Given the description of an element on the screen output the (x, y) to click on. 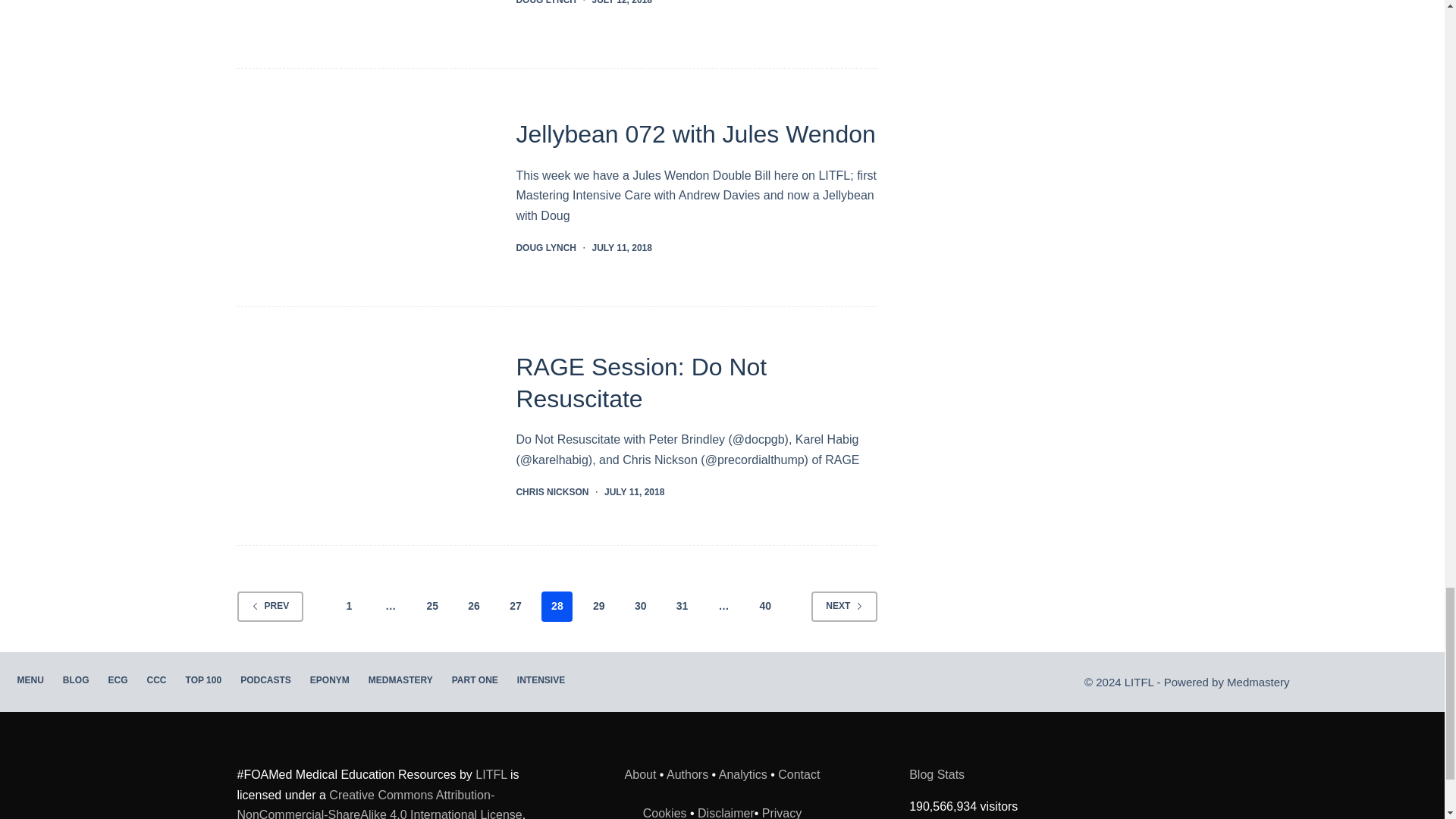
Posts by Doug Lynch (545, 2)
Posts by Chris Nickson (551, 491)
Posts by Doug Lynch (545, 247)
